Given the description of an element on the screen output the (x, y) to click on. 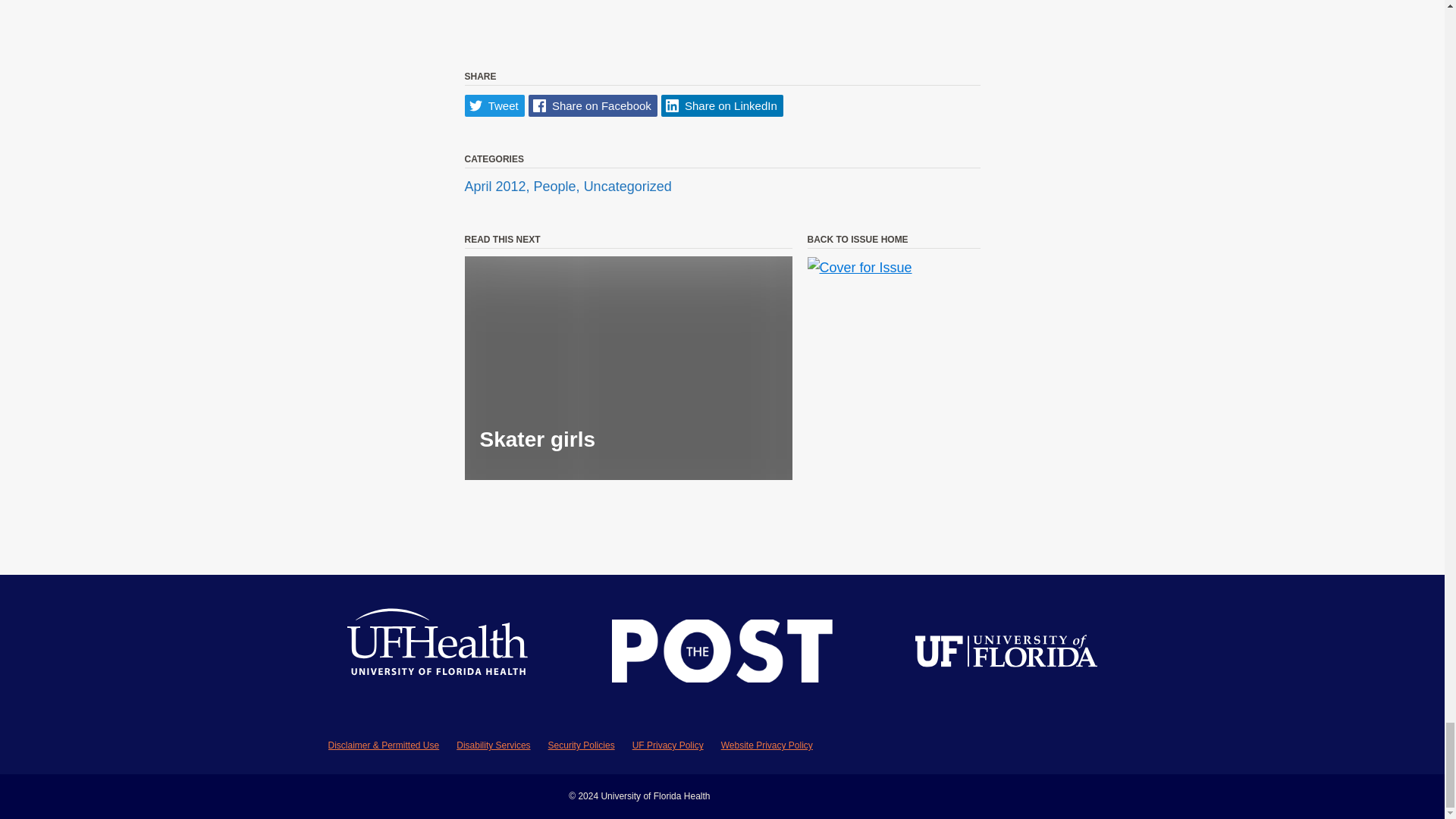
University of Florida (1005, 653)
UF Health (437, 653)
Disability Services (493, 745)
Tweet (494, 106)
Uncategorized (627, 186)
Security Policies (581, 745)
Share on LinkedIn (722, 106)
Share on Facebook (593, 106)
Website Privacy Policy (766, 745)
April 2012, (498, 186)
University of Florida Logo (1005, 653)
People, (558, 186)
UF Health Logo (437, 653)
UF Privacy Policy (667, 745)
Skater girls (628, 367)
